Given the description of an element on the screen output the (x, y) to click on. 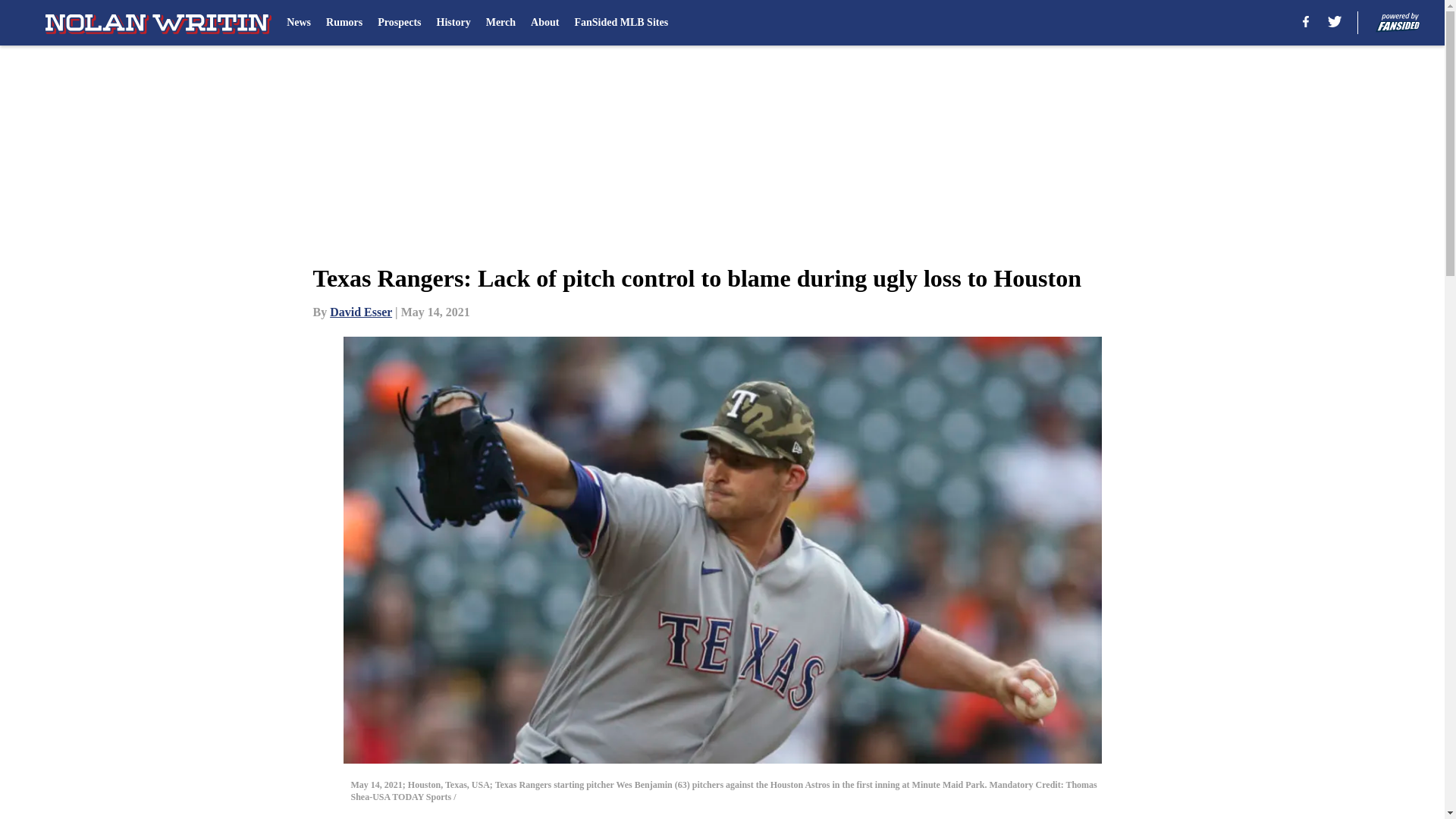
History (453, 22)
FanSided MLB Sites (620, 22)
News (298, 22)
David Esser (360, 311)
About (545, 22)
Merch (500, 22)
Rumors (344, 22)
Prospects (398, 22)
